Given the description of an element on the screen output the (x, y) to click on. 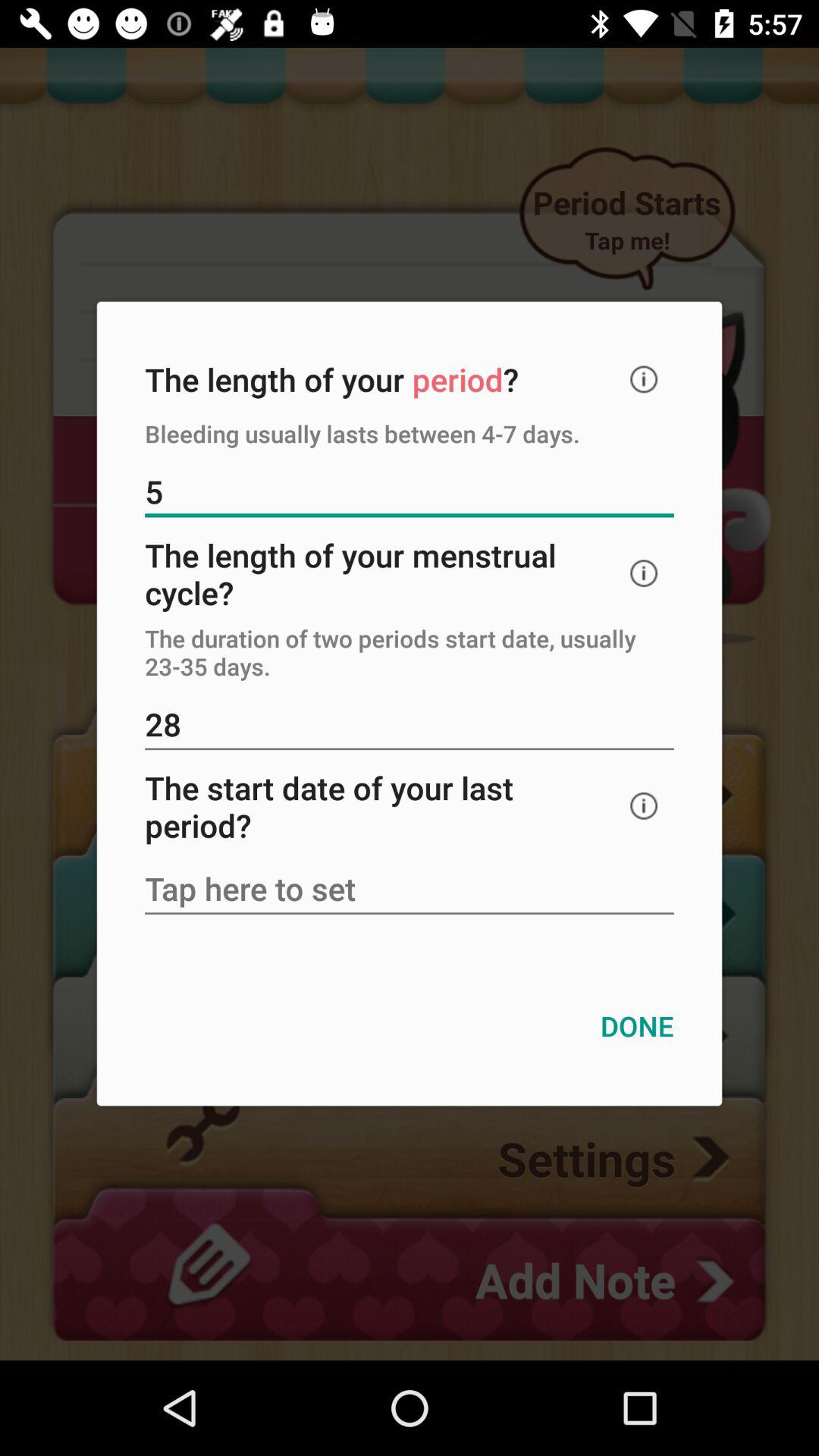
view information (643, 806)
